Given the description of an element on the screen output the (x, y) to click on. 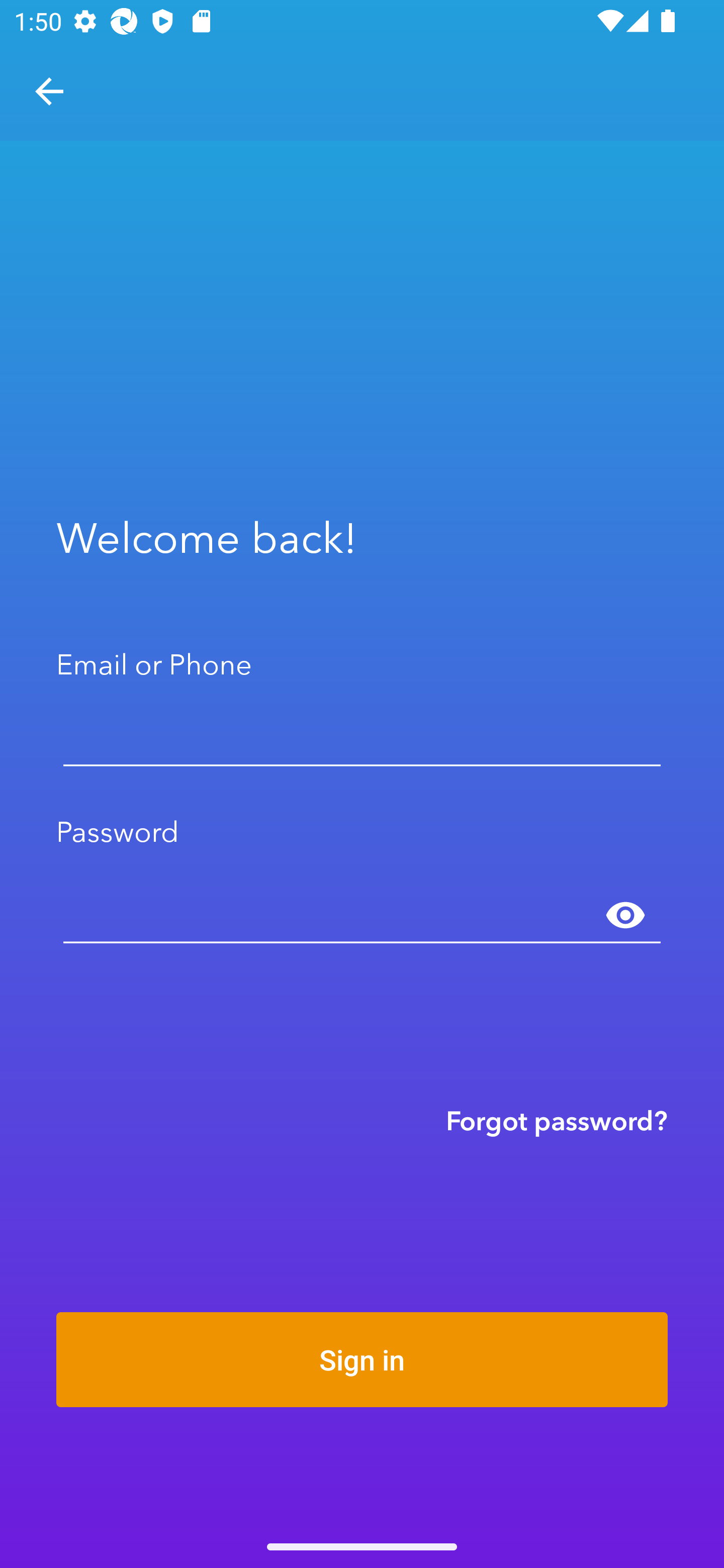
Navigate up (49, 91)
Show password (625, 915)
Forgot password? (556, 1119)
Sign in (361, 1359)
